Given the description of an element on the screen output the (x, y) to click on. 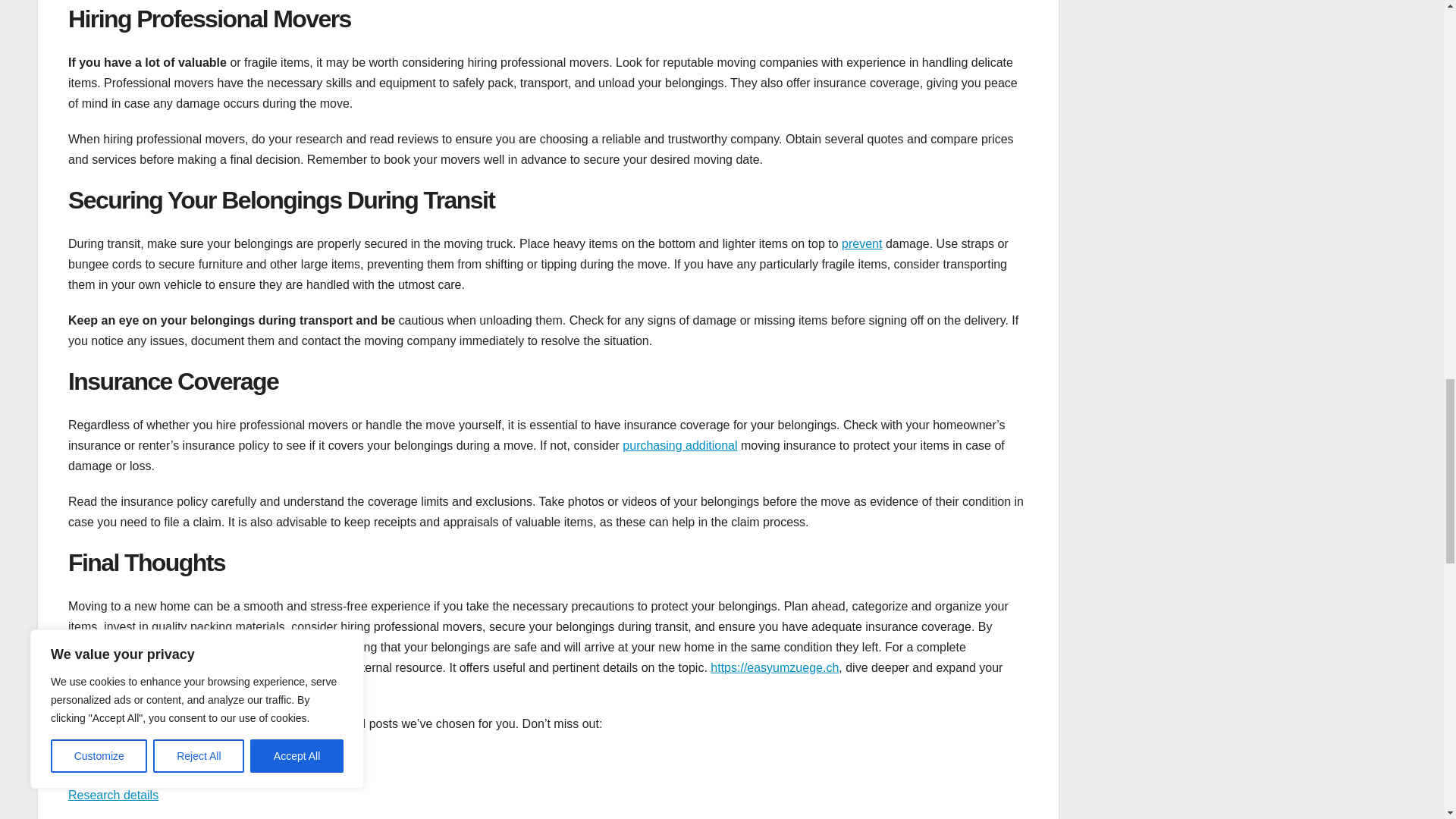
purchasing additional (679, 445)
prevent (861, 243)
Research details (113, 794)
Check out this useful content (146, 758)
